Given the description of an element on the screen output the (x, y) to click on. 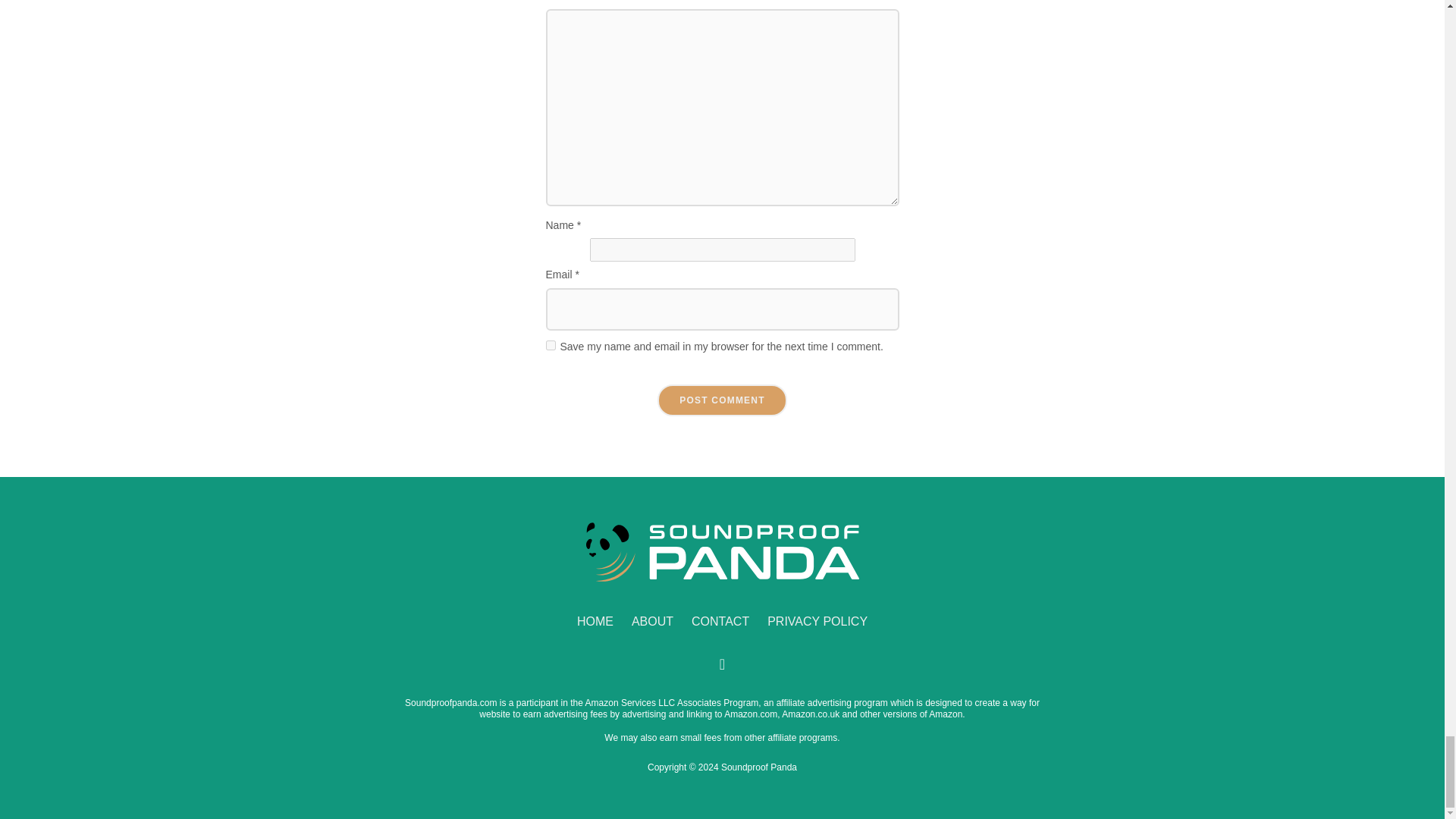
Soundproof Panda (722, 552)
yes (551, 345)
CONTACT (720, 622)
PRIVACY POLICY (817, 622)
Post Comment (722, 400)
HOME (594, 622)
Post Comment (722, 400)
ABOUT (651, 622)
